Given the description of an element on the screen output the (x, y) to click on. 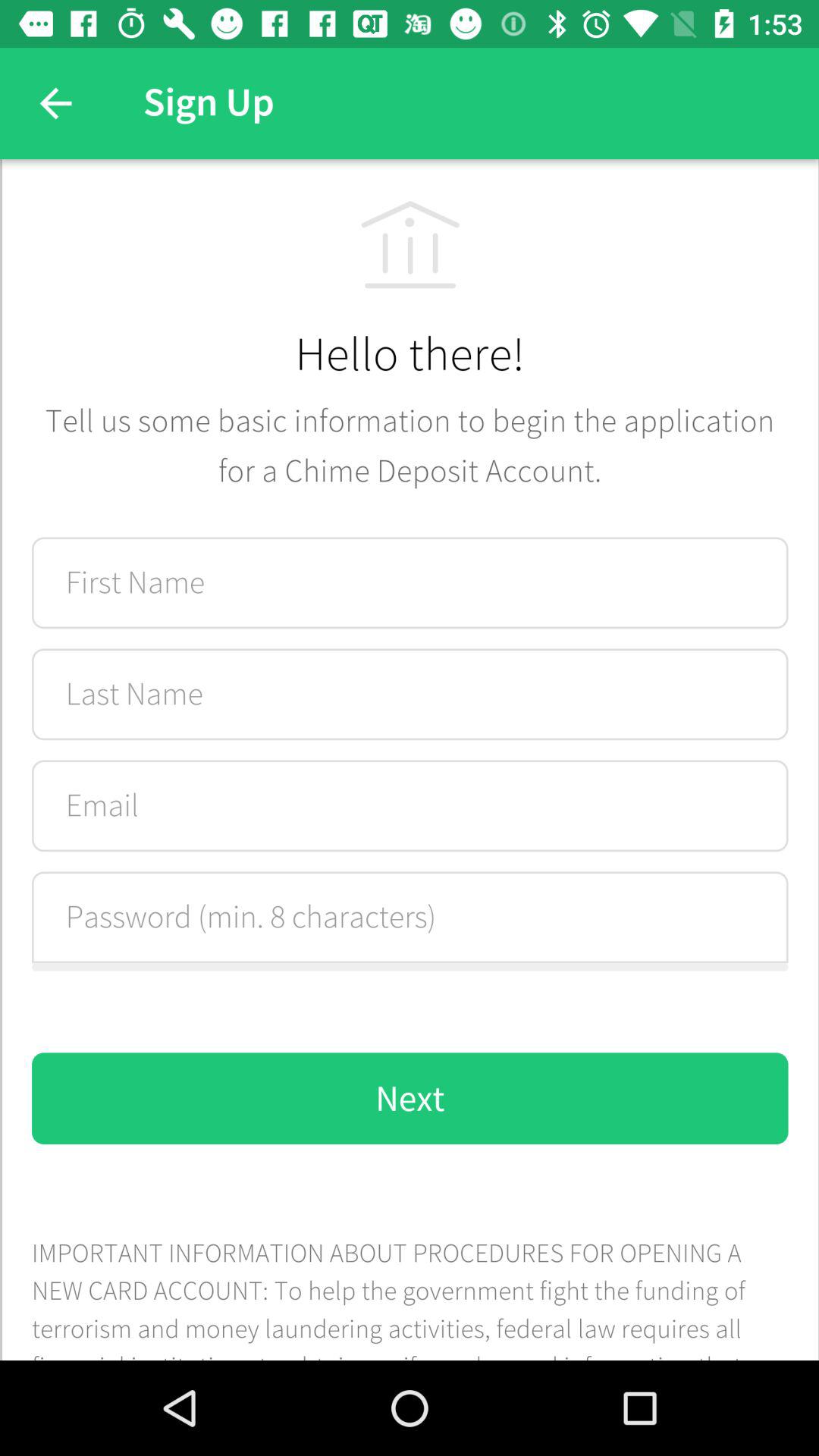
contact page form (409, 759)
